Given the description of an element on the screen output the (x, y) to click on. 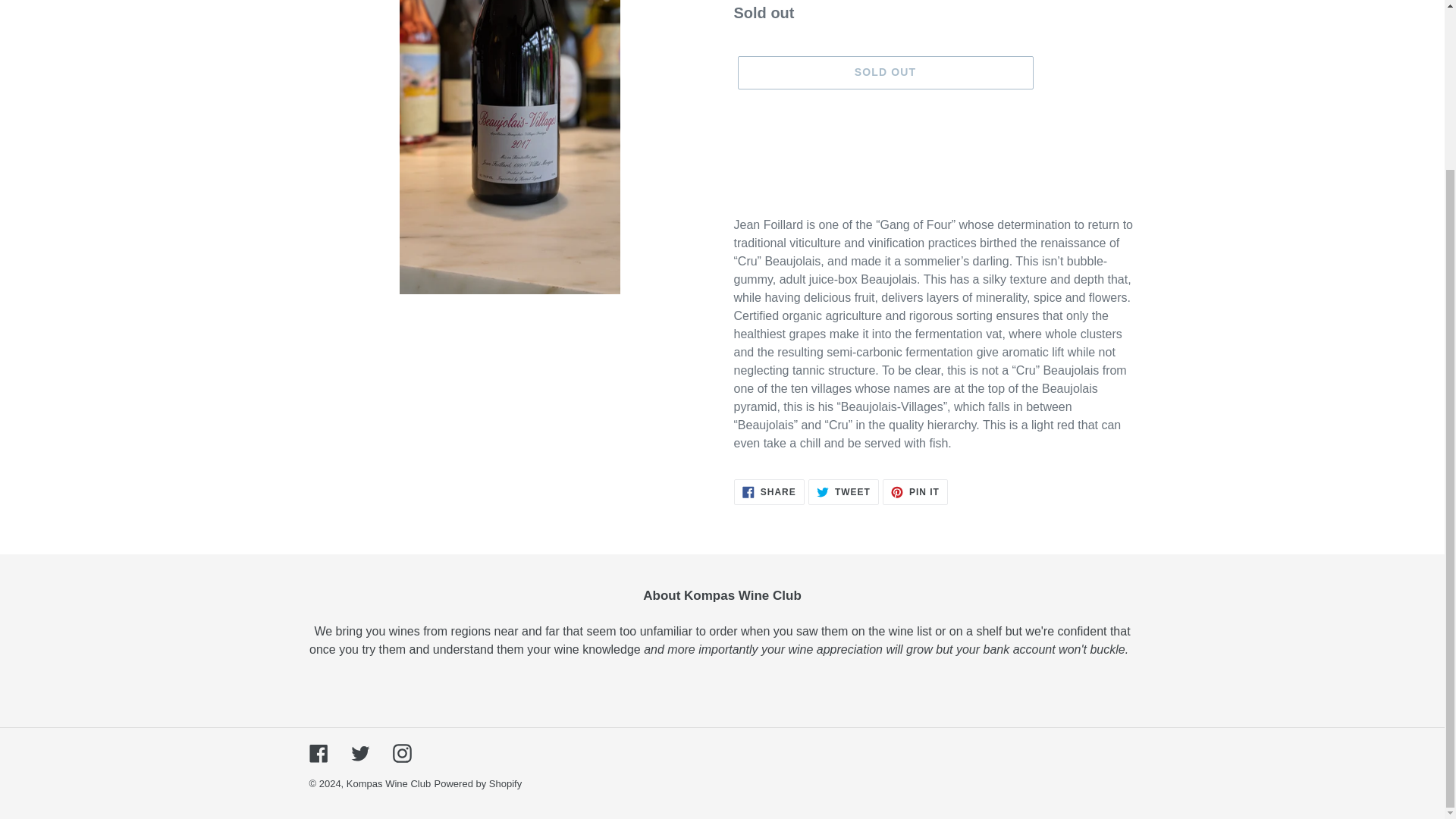
Kompas Wine Club (388, 783)
SOLD OUT (884, 72)
Twitter (843, 492)
Facebook (359, 752)
Powered by Shopify (318, 752)
Instagram (477, 783)
